Given the description of an element on the screen output the (x, y) to click on. 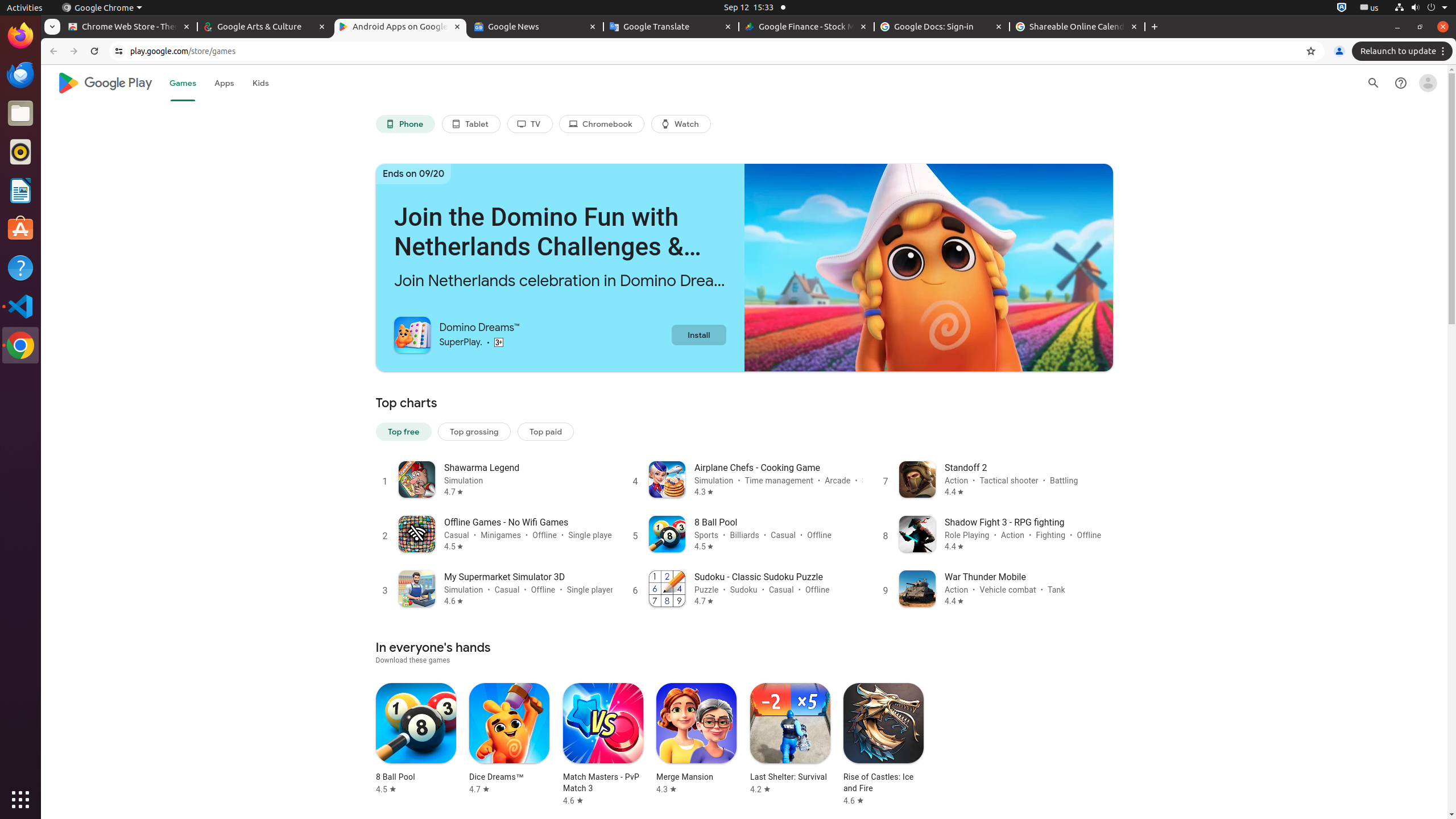
Games Element type: page-tab (182, 82)
View site information Element type: push-button (118, 51)
Google News - Memory usage - 61.7 MB Element type: page-tab (535, 26)
Forward Element type: push-button (73, 50)
Files Element type: push-button (20, 113)
